Given the description of an element on the screen output the (x, y) to click on. 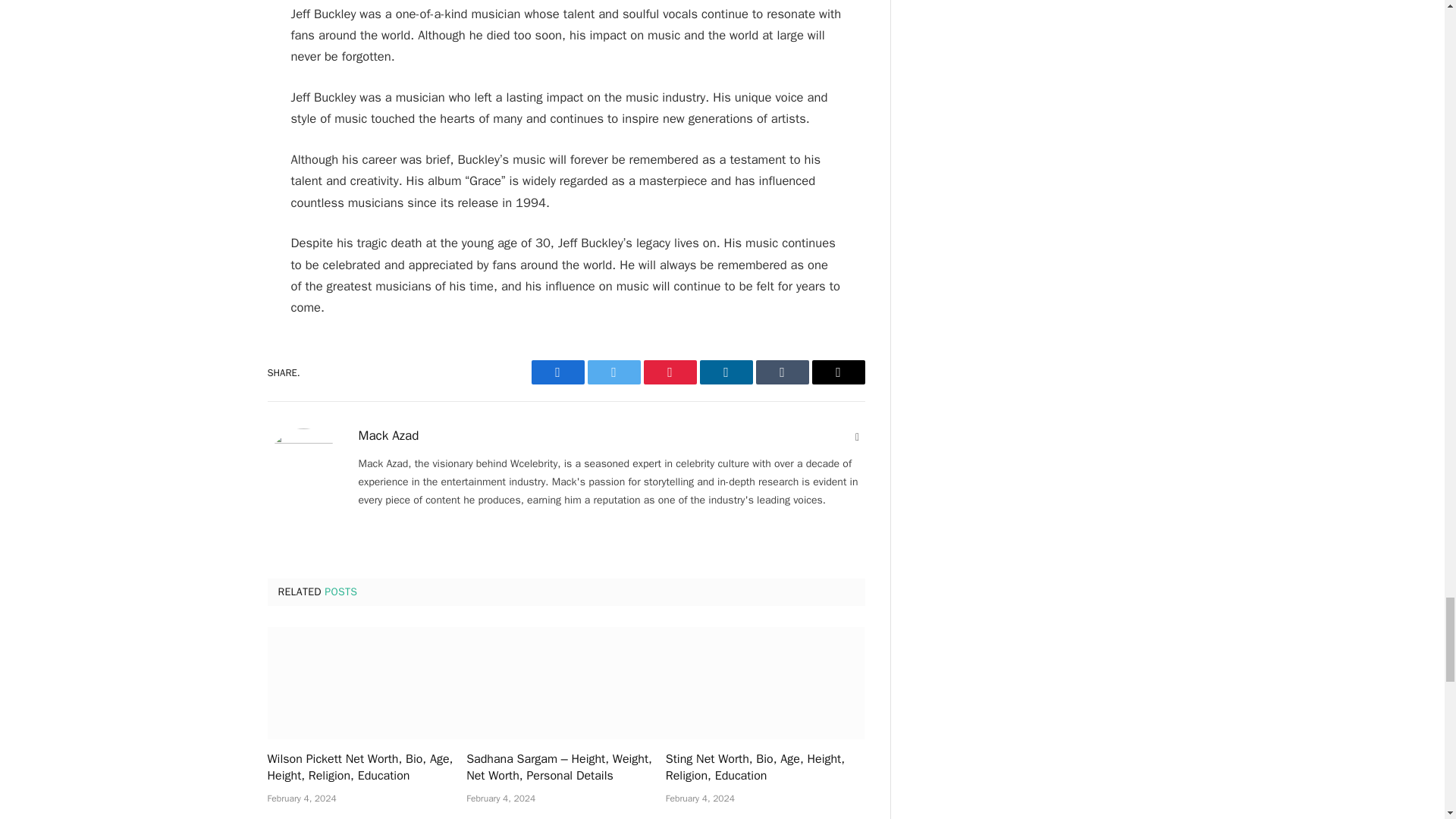
Facebook (557, 372)
Pinterest (669, 372)
Twitter (613, 372)
